Given the description of an element on the screen output the (x, y) to click on. 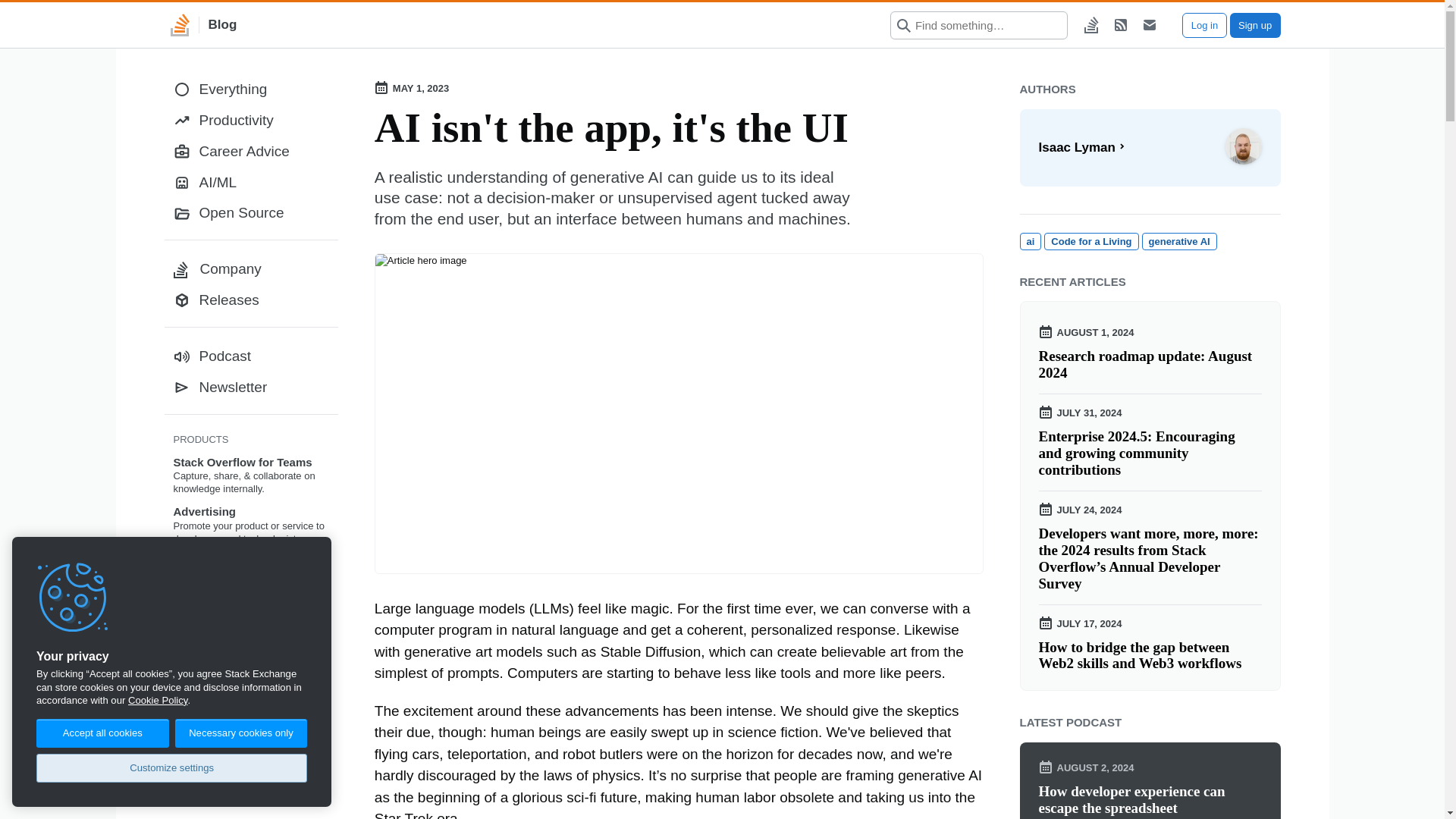
Career Advice (250, 152)
Sign up (1255, 24)
Code for a Living (1090, 241)
Everything (250, 90)
View full bio and posts (1149, 147)
Newsletter (250, 387)
Company (250, 269)
generative AI (1179, 241)
Productivity (250, 121)
Isaac Lyman (1149, 147)
Podcast (250, 357)
ai (1030, 241)
How to bridge the gap between Web2 skills and Web3 workflows (1150, 655)
